Given the description of an element on the screen output the (x, y) to click on. 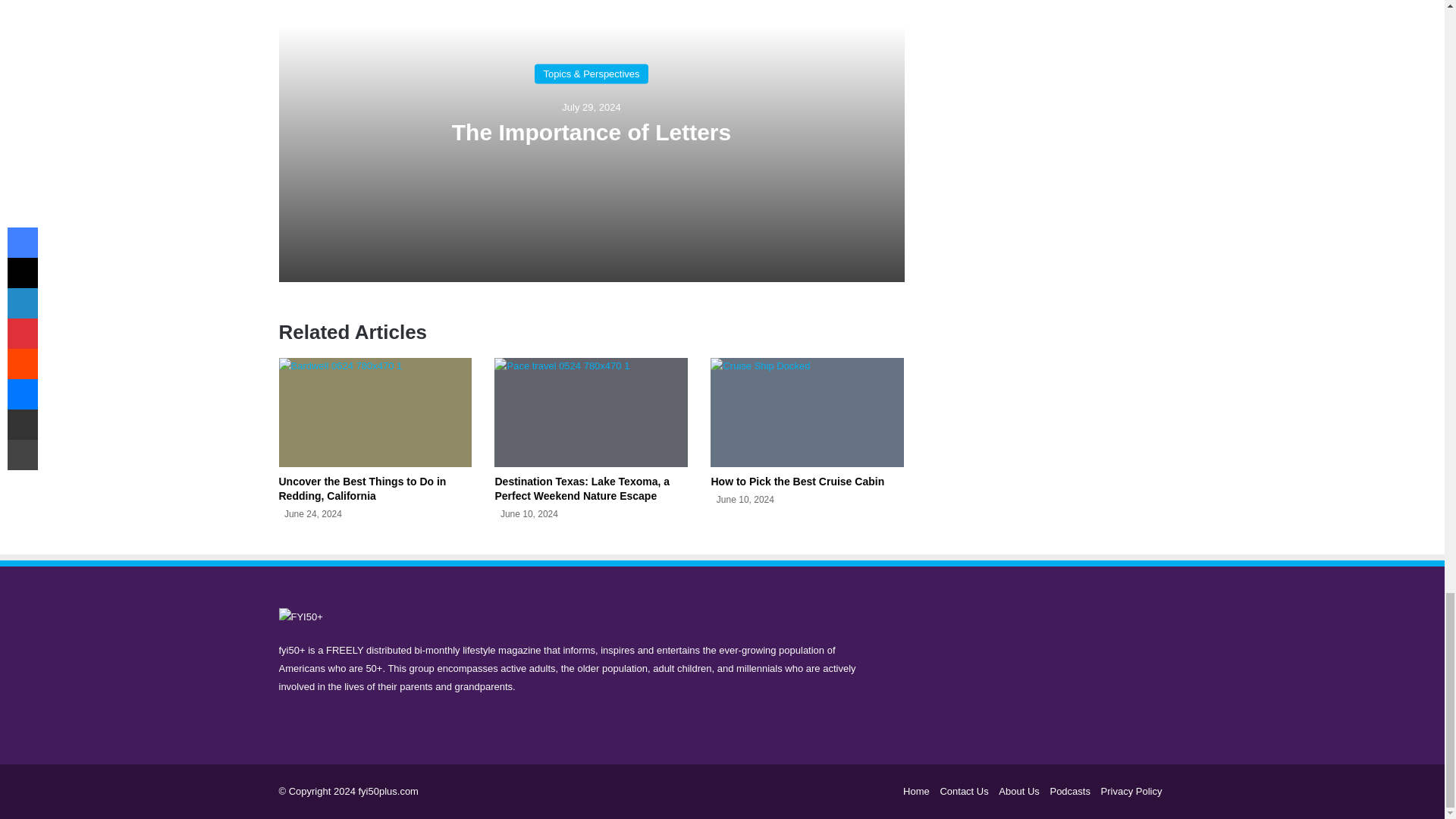
How to Pick the Best Cruise Cabin 6 (807, 411)
Uncover the Best Things to Do in Redding, California 4 (375, 411)
